Given the description of an element on the screen output the (x, y) to click on. 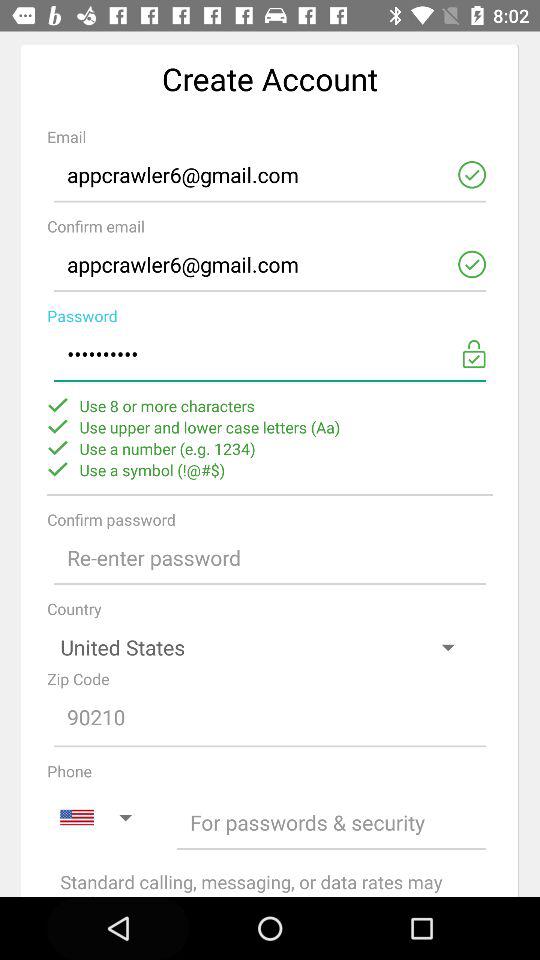
enter phone (331, 822)
